Given the description of an element on the screen output the (x, y) to click on. 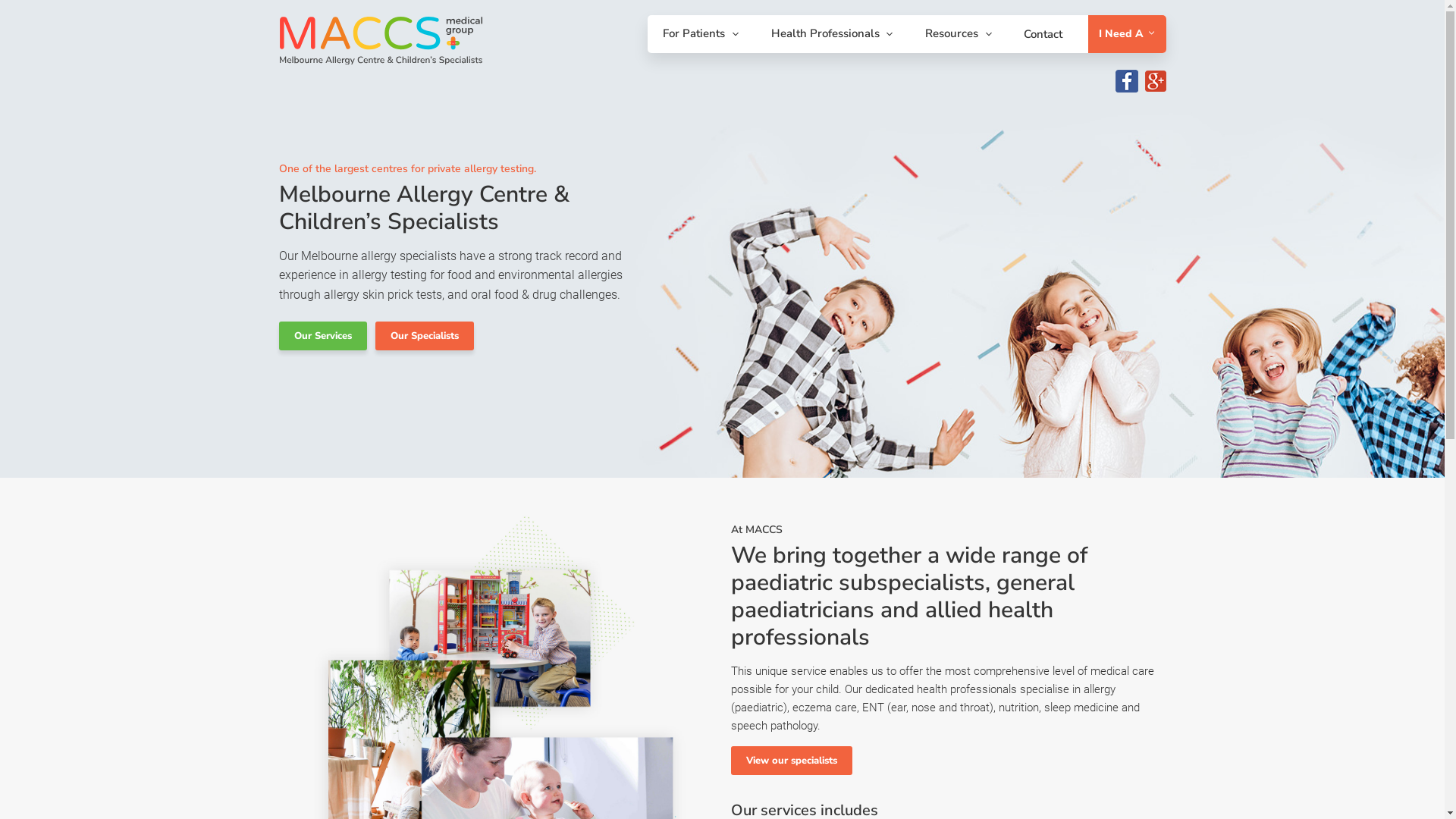
Contact Element type: text (1042, 33)
View our specialists Element type: text (791, 760)
Our Services Element type: text (323, 335)
Resources Element type: text (961, 32)
I Need A Element type: text (1126, 34)
Health Professionals Element type: text (835, 32)
For Patients Element type: text (703, 32)
Our Specialists Element type: text (423, 335)
